Given the description of an element on the screen output the (x, y) to click on. 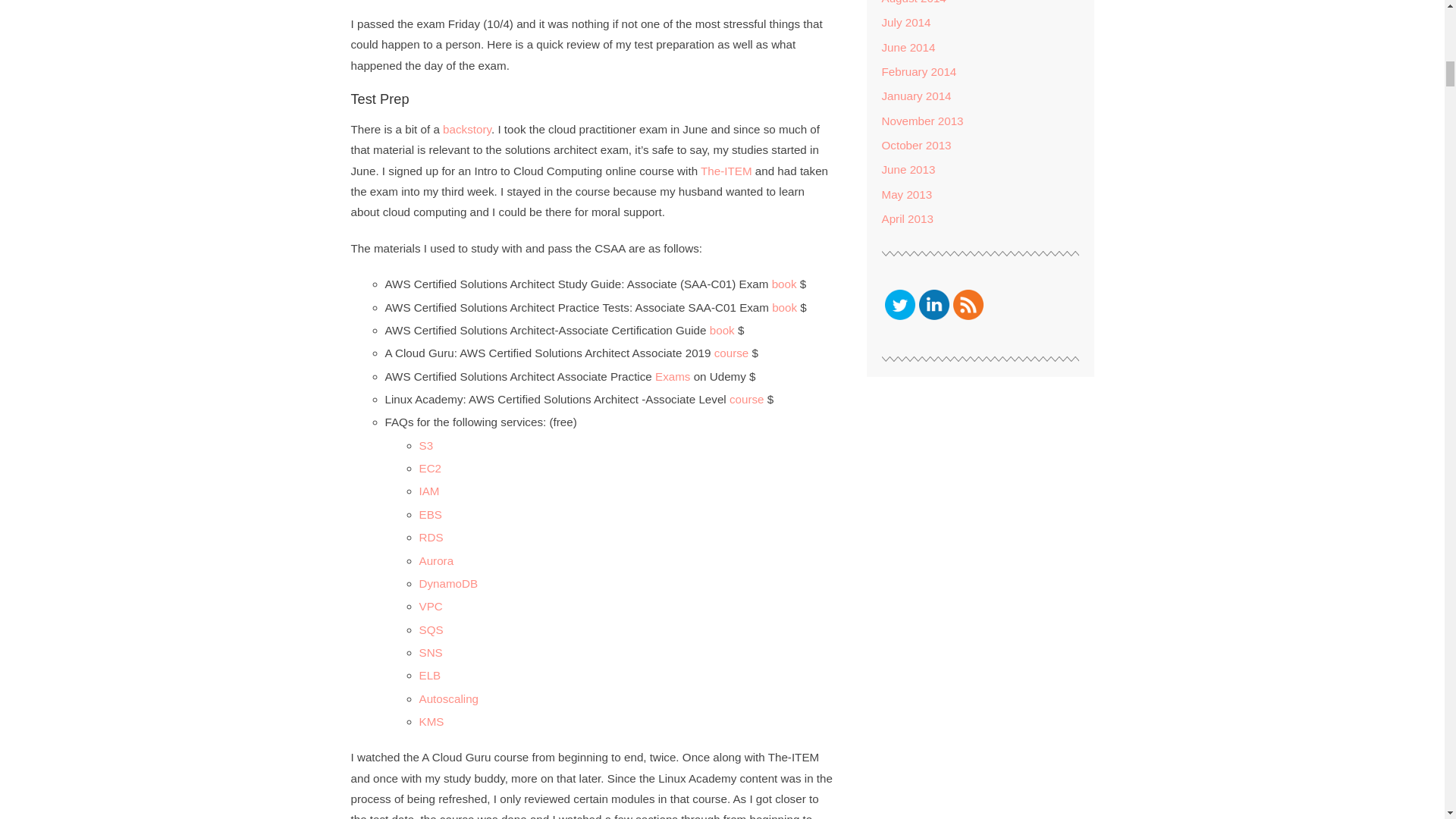
SNS (430, 652)
VPC (430, 605)
course (731, 352)
course (746, 399)
book (722, 329)
S3 (425, 445)
RDS (430, 536)
IAM (429, 490)
The-ITEM (727, 170)
SQS (430, 629)
